Given the description of an element on the screen output the (x, y) to click on. 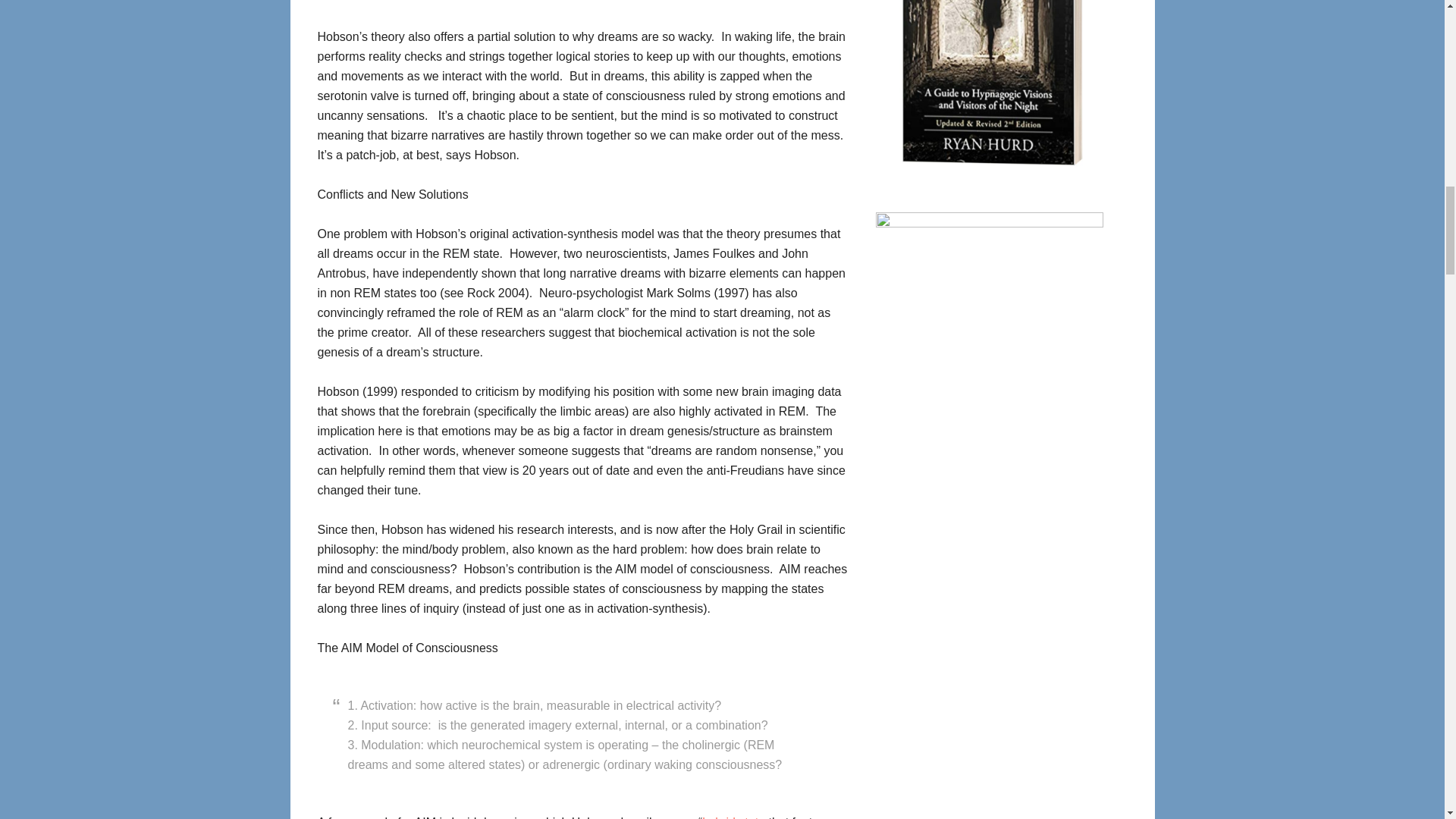
hybrid state (733, 817)
